Given the description of an element on the screen output the (x, y) to click on. 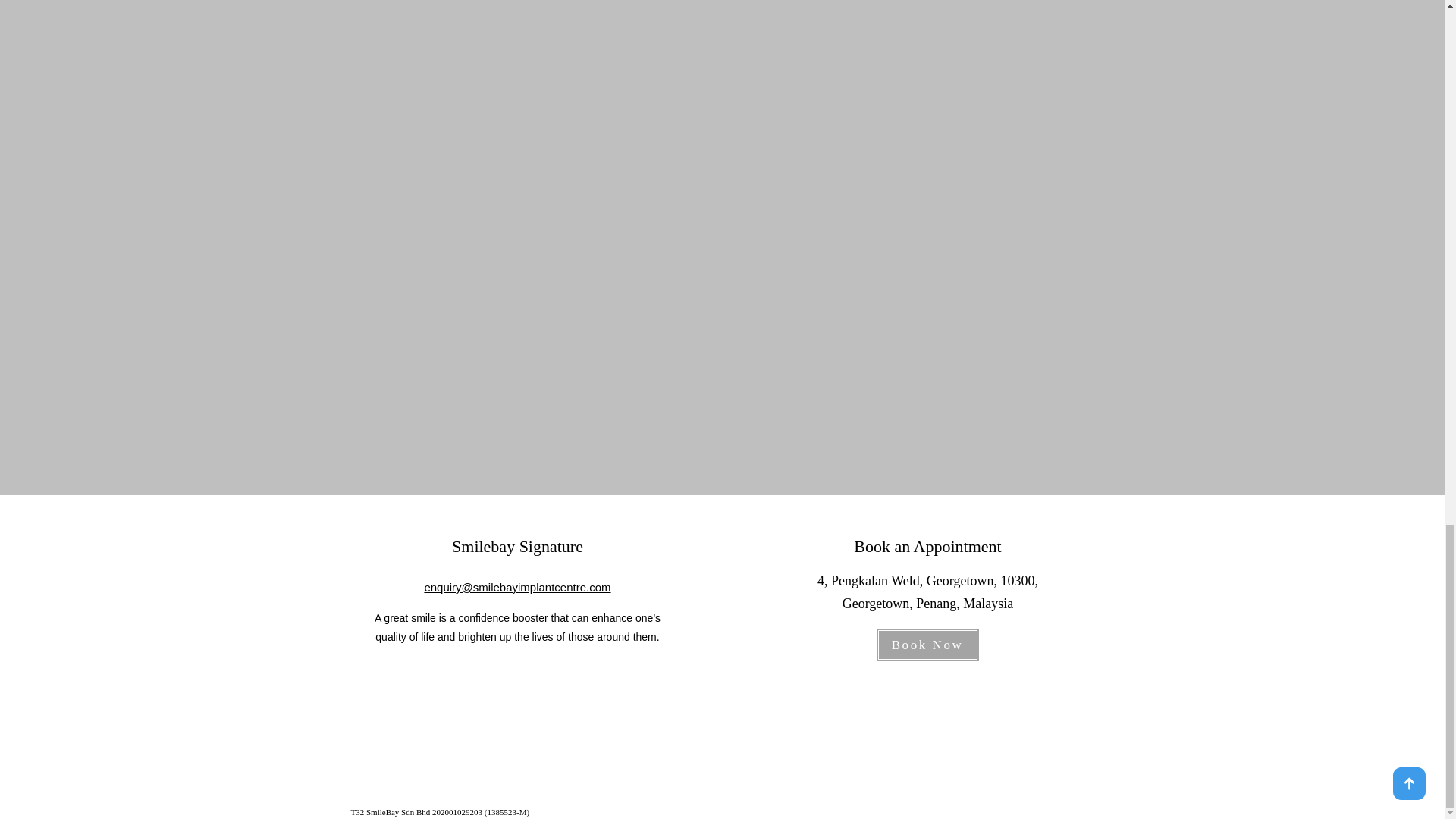
Book Now (926, 644)
